Given the description of an element on the screen output the (x, y) to click on. 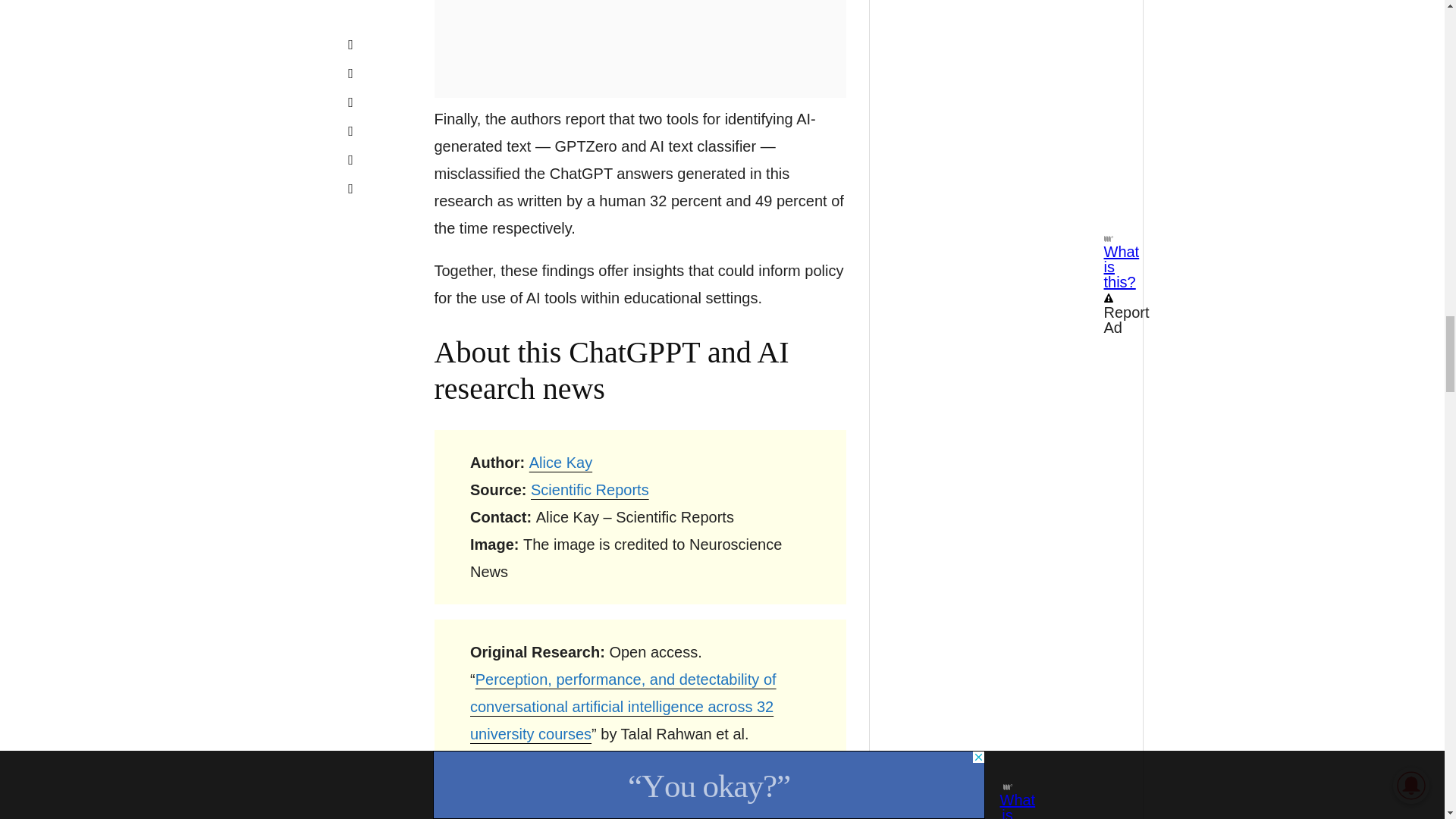
Alice Kay (560, 462)
Scientific Reports (590, 489)
